Given the description of an element on the screen output the (x, y) to click on. 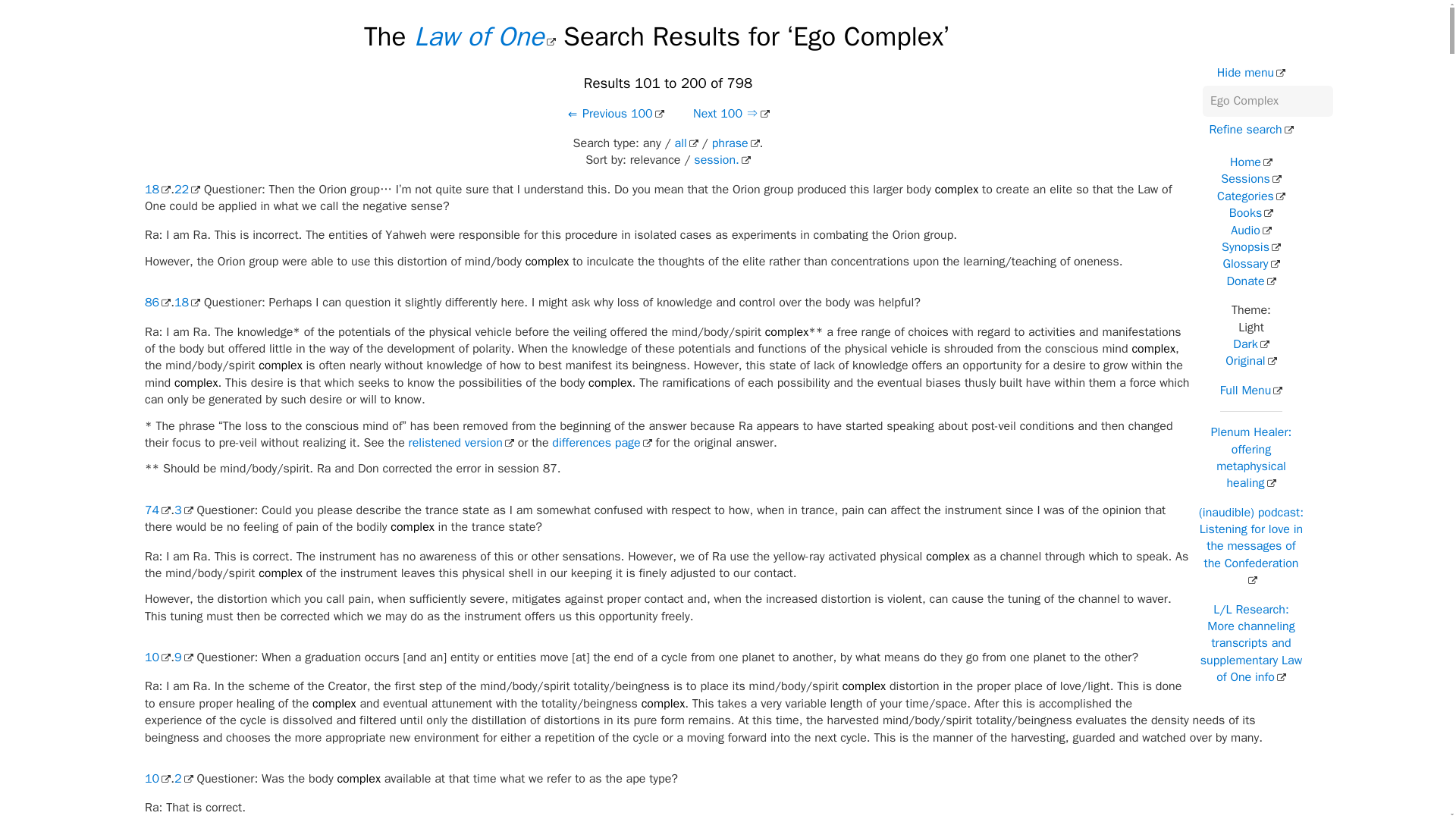
74 (157, 509)
session. (721, 159)
3 (183, 509)
9 (183, 657)
differences page (600, 442)
10 (157, 657)
18 (187, 302)
2 (183, 778)
86 (157, 302)
Law of One (484, 36)
